Given the description of an element on the screen output the (x, y) to click on. 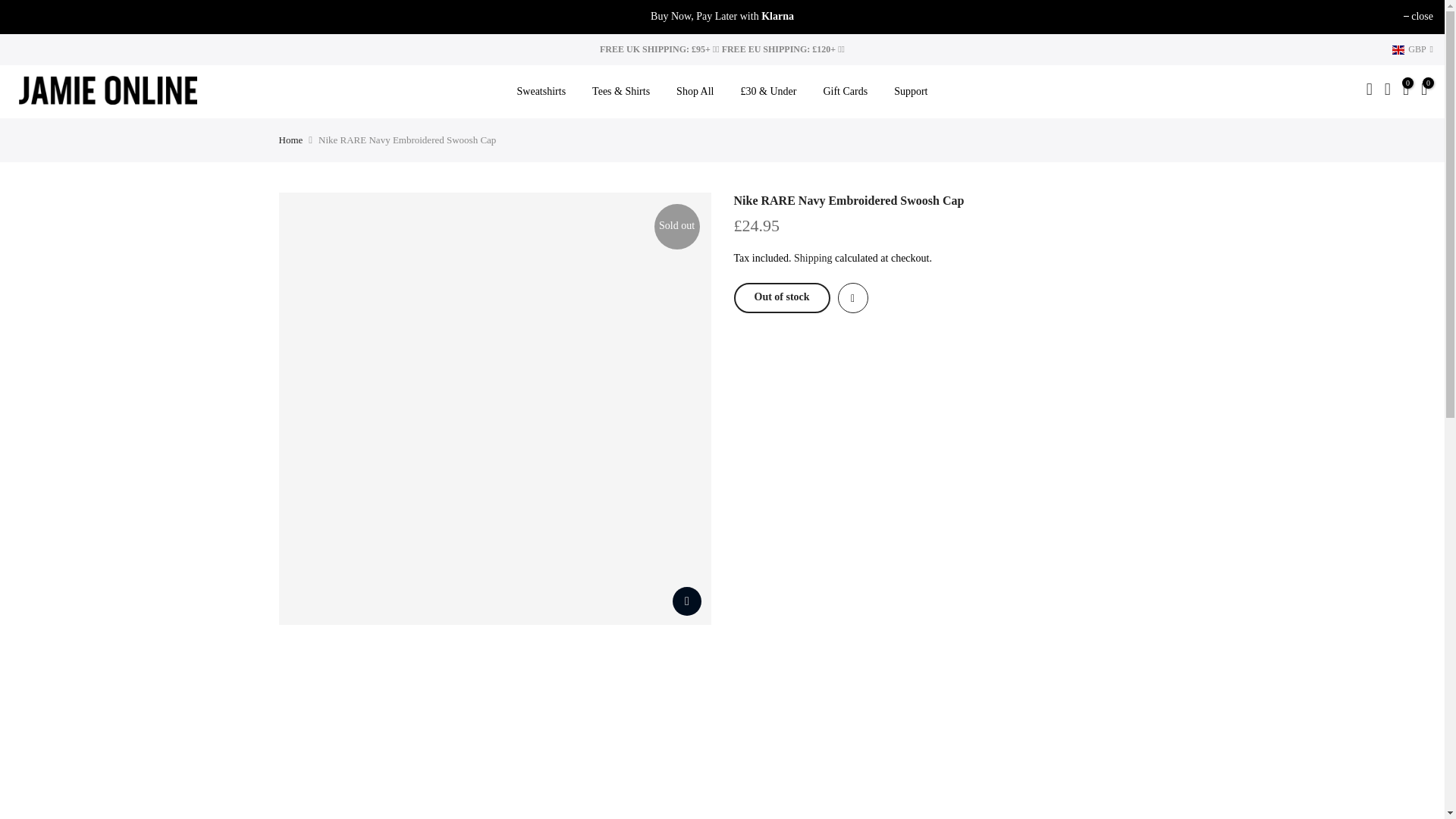
close (1417, 16)
